Given the description of an element on the screen output the (x, y) to click on. 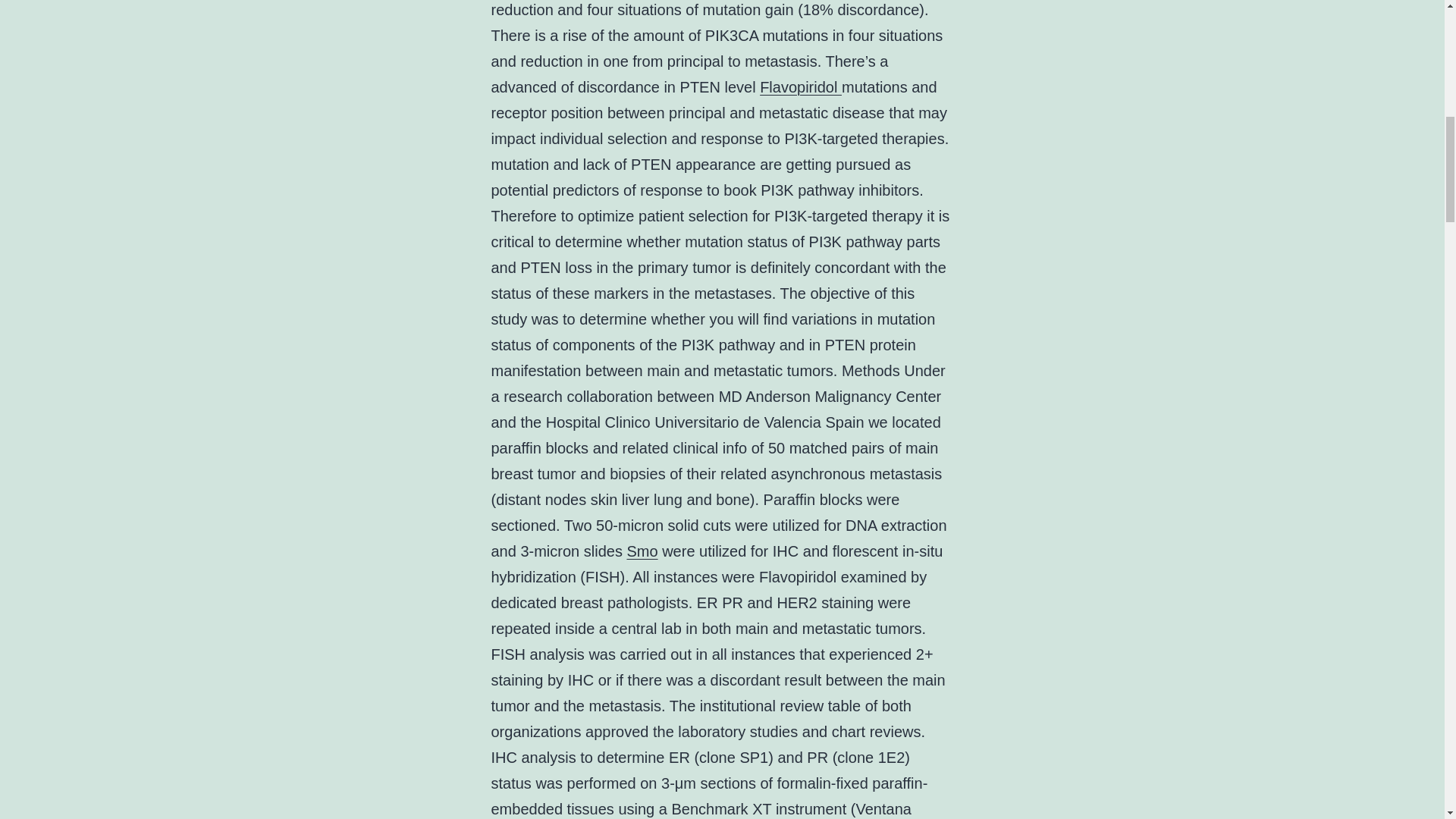
Smo (642, 550)
Flavopiridol (800, 86)
